Given the description of an element on the screen output the (x, y) to click on. 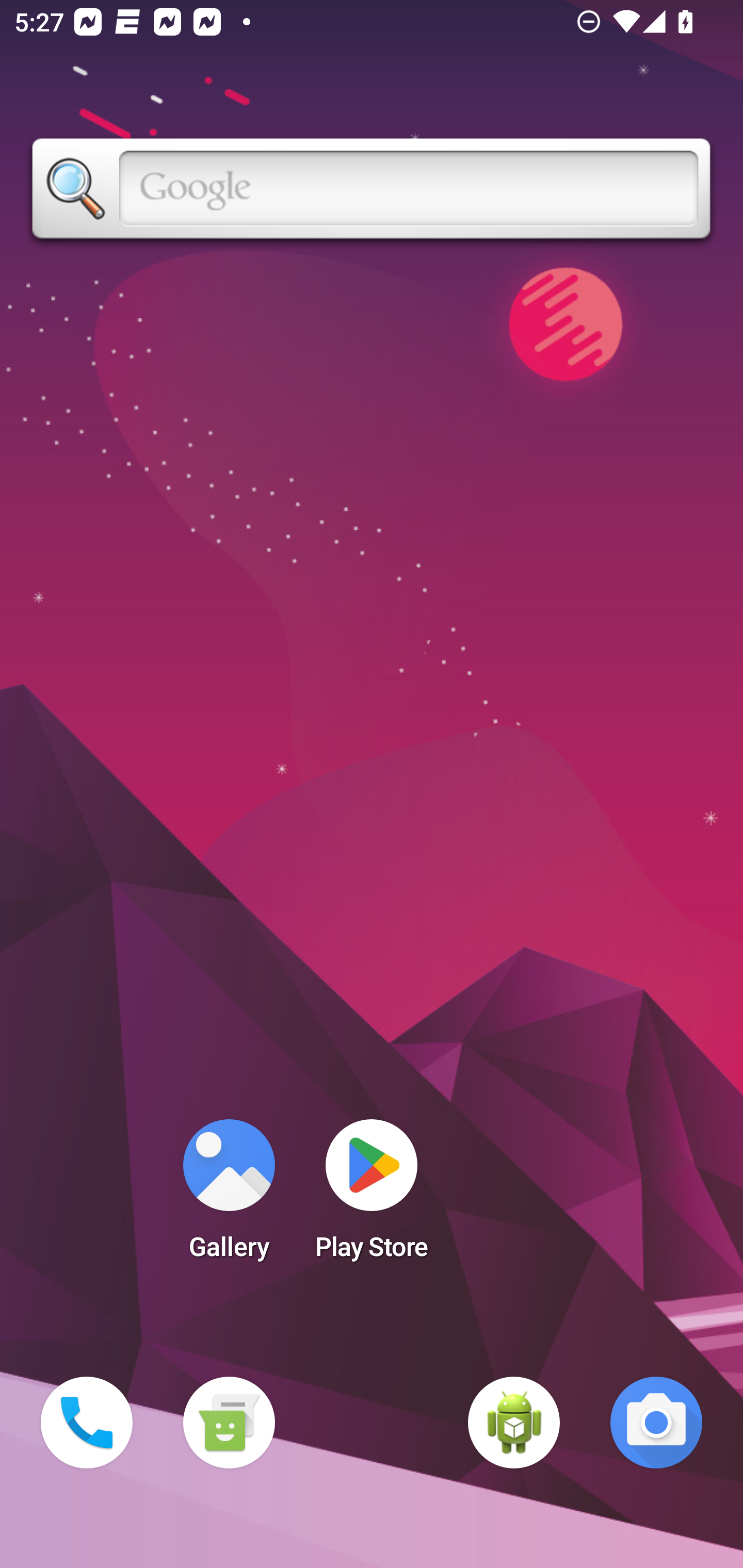
Gallery (228, 1195)
Play Store (371, 1195)
Phone (86, 1422)
Messaging (228, 1422)
WebView Browser Tester (513, 1422)
Camera (656, 1422)
